Given the description of an element on the screen output the (x, y) to click on. 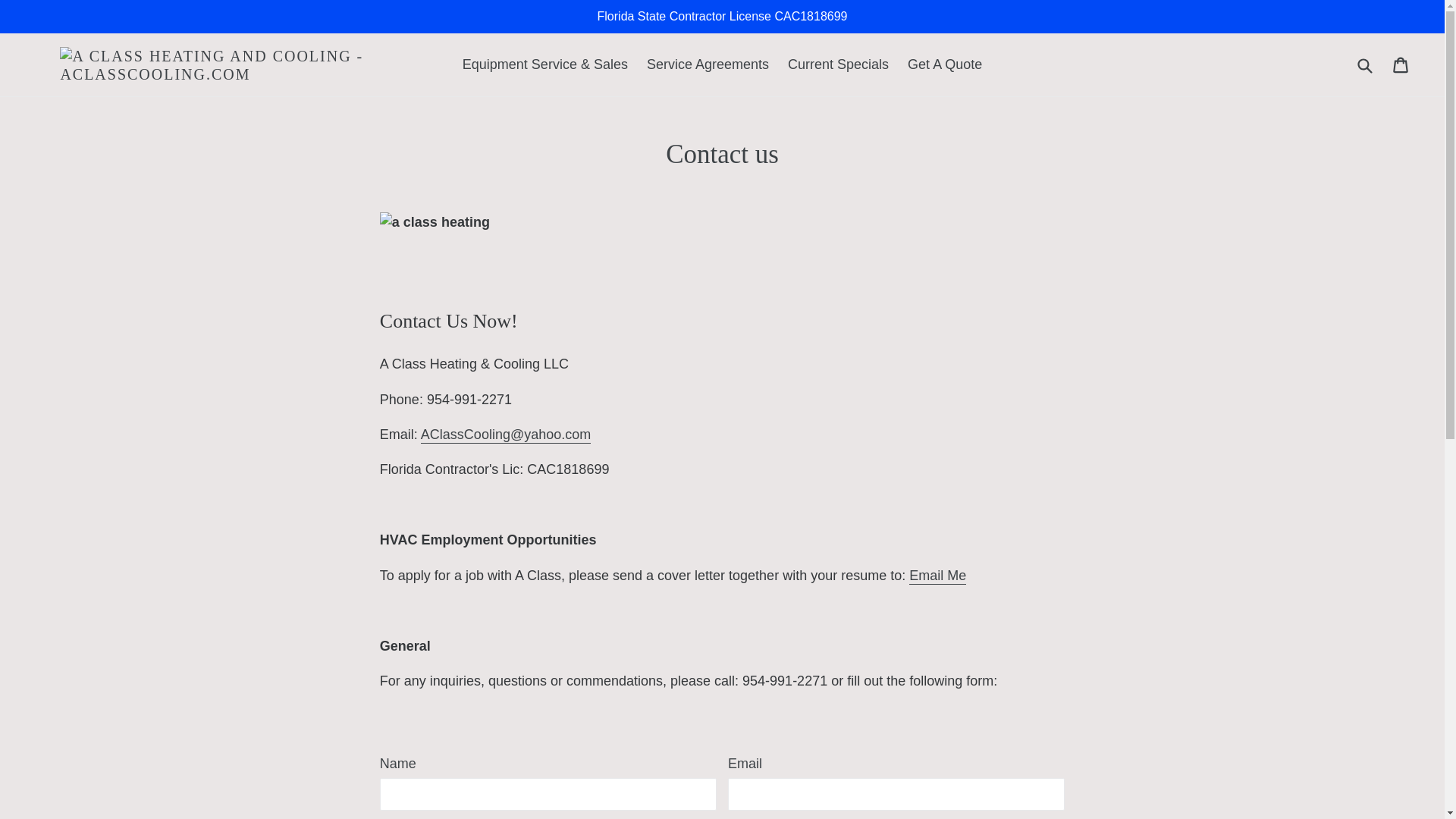
Service Agreements (707, 64)
Current Specials (838, 64)
Email Me (937, 576)
Get A Quote (944, 64)
